Given the description of an element on the screen output the (x, y) to click on. 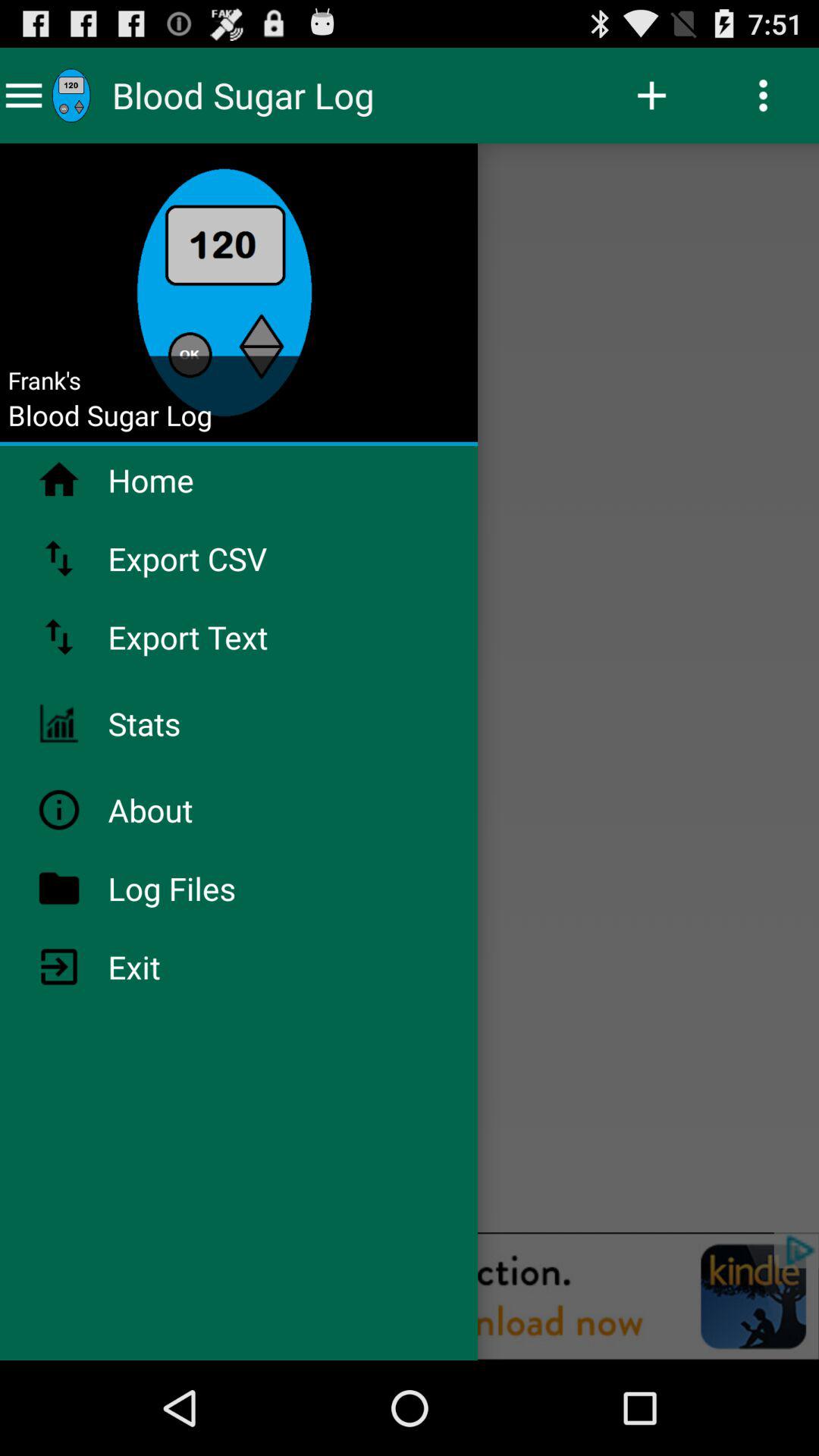
choose the item below the stats item (190, 809)
